Given the description of an element on the screen output the (x, y) to click on. 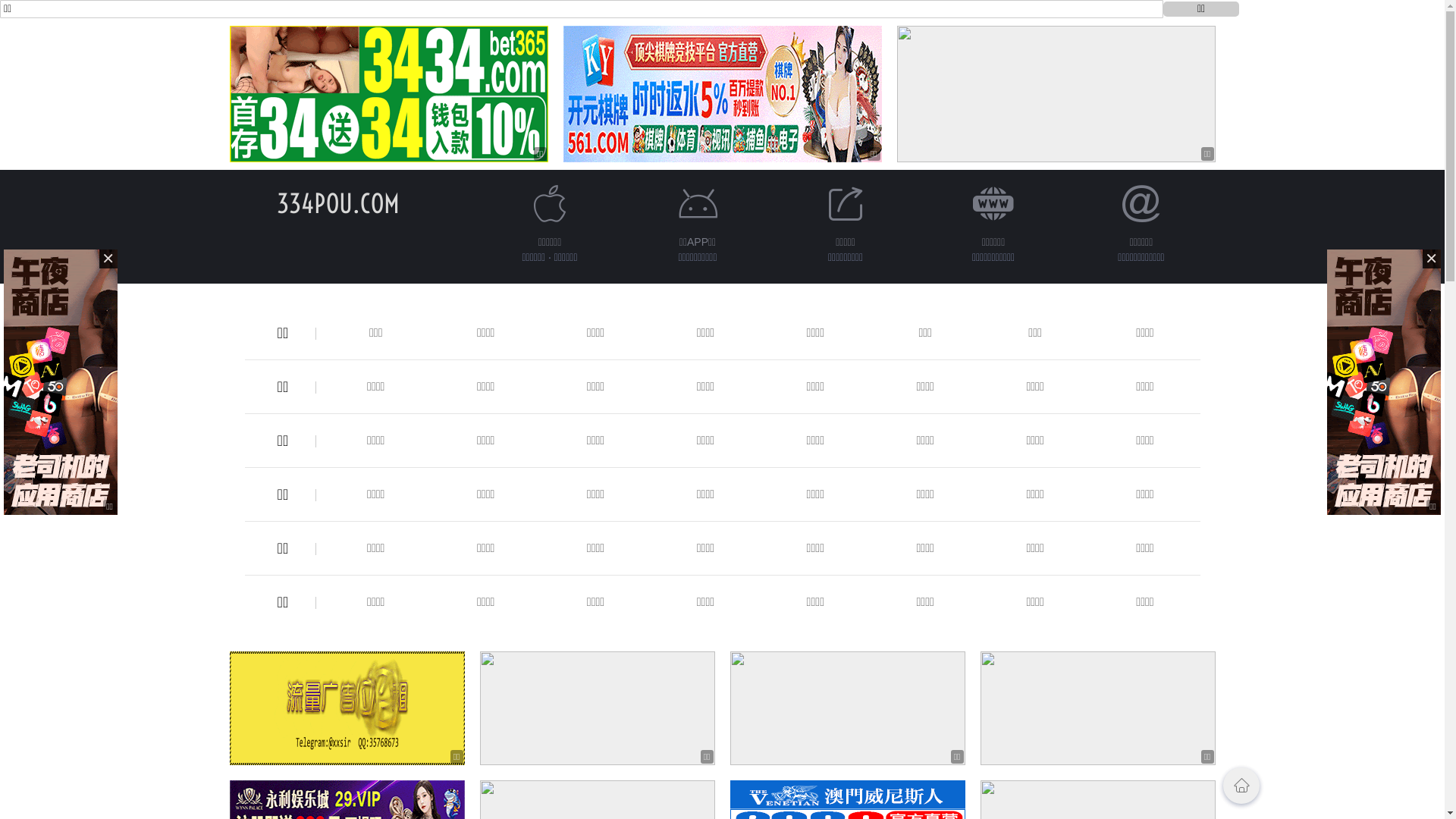
334POU.COM Element type: text (337, 203)
